Given the description of an element on the screen output the (x, y) to click on. 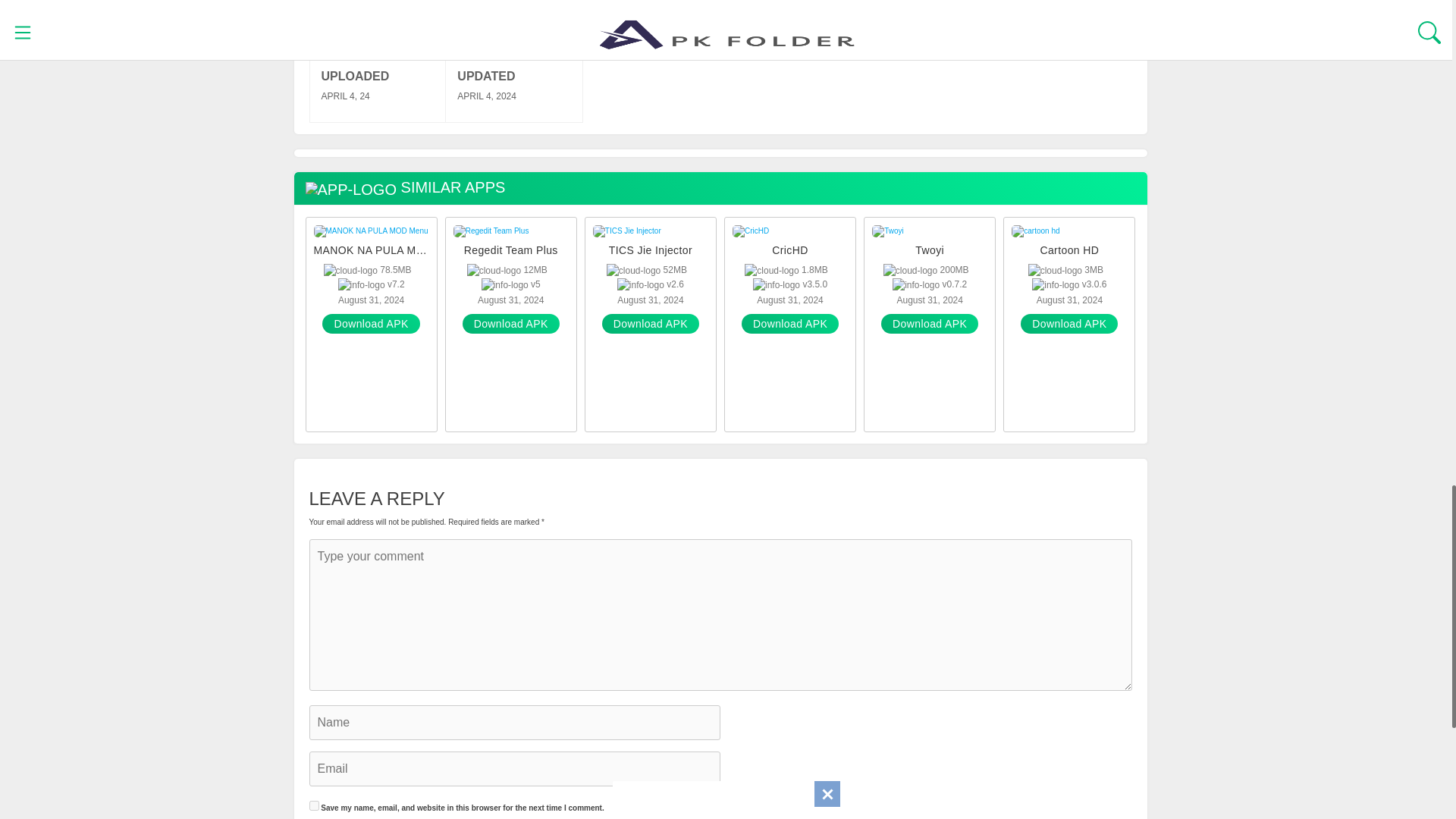
Regedit Team Plus (510, 249)
Download APK (929, 323)
 SIMILAR APPS (404, 188)
Download APK (511, 323)
MANOK NA PULA MOD (371, 249)
Twoyi (929, 249)
TICS Jie Injector (649, 249)
Download APK (650, 323)
Download APK (370, 323)
yes (313, 805)
